Given the description of an element on the screen output the (x, y) to click on. 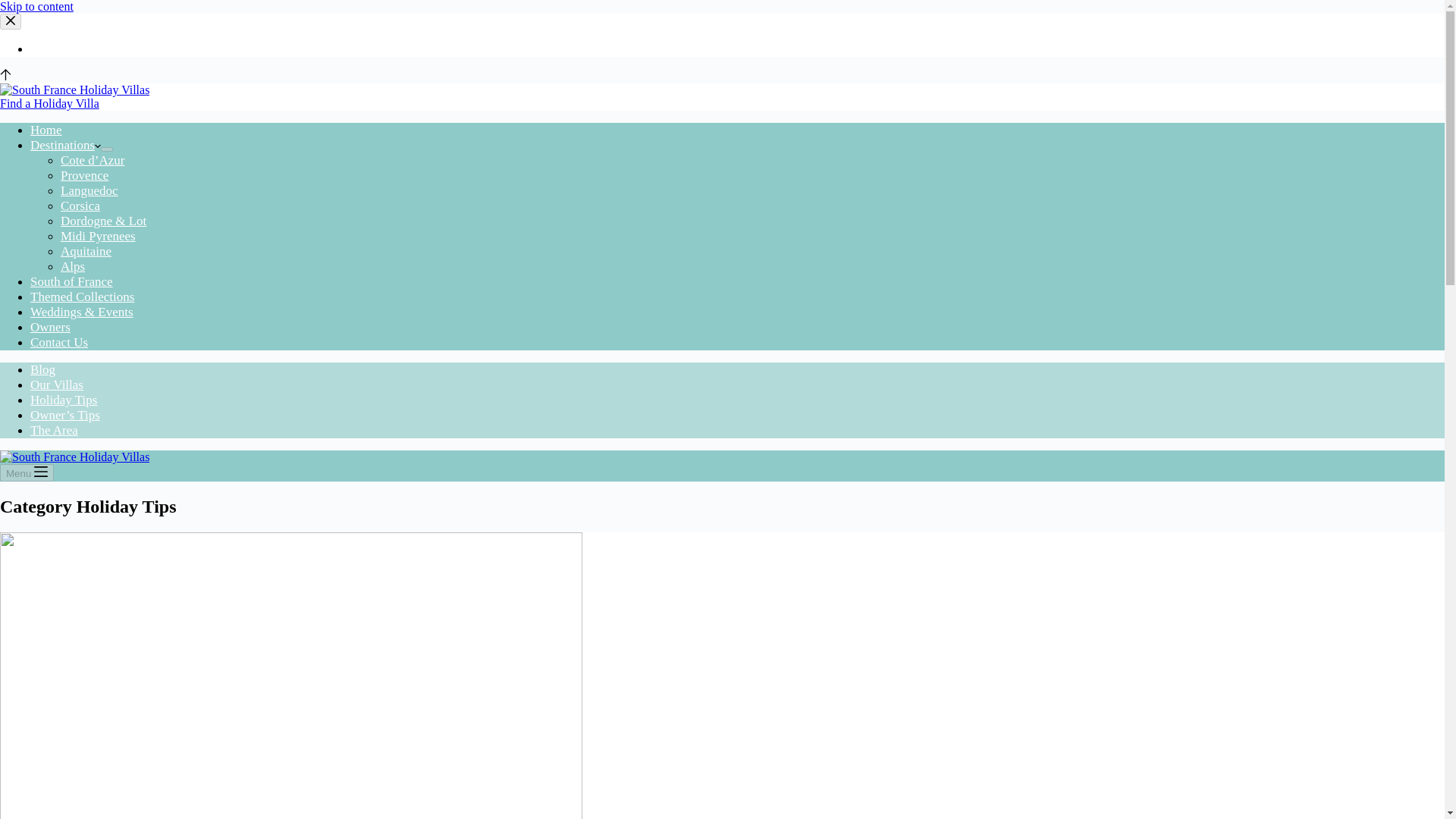
Provence (84, 175)
Holiday Tips (63, 400)
Destinations (65, 145)
Menu (26, 472)
Find a Holiday Villa (49, 103)
Midi Pyrenees (98, 236)
Home (46, 129)
Themed Collections (81, 296)
Owners (49, 327)
South of France (71, 281)
The Area (54, 430)
Corsica (80, 205)
Languedoc (89, 190)
Our Villas (56, 384)
Skip to content (37, 6)
